Given the description of an element on the screen output the (x, y) to click on. 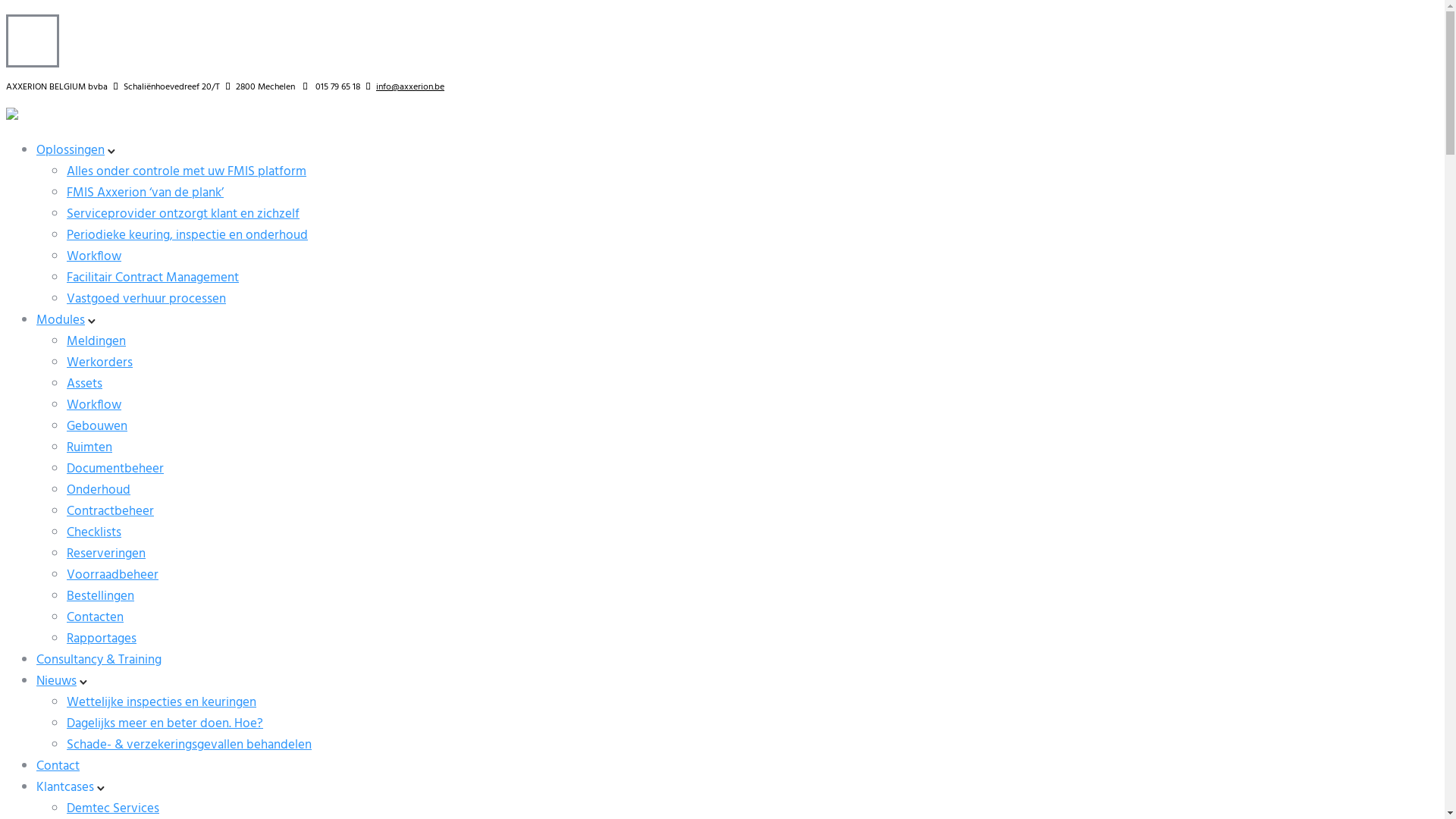
Oplossingen Element type: text (70, 150)
Nieuws Element type: text (56, 681)
Vastgoed verhuur processen Element type: text (145, 298)
Consultancy & Training Element type: text (98, 659)
Onderhoud Element type: text (98, 490)
Periodieke keuring, inspectie en onderhoud Element type: text (186, 235)
Dagelijks meer en beter doen. Hoe? Element type: text (164, 723)
Modules Element type: text (60, 320)
Contacten Element type: text (94, 617)
Alles onder controle met uw FMIS platform Element type: text (186, 171)
info@axxerion.be Element type: text (410, 86)
Contact Element type: text (57, 766)
Wettelijke inspecties en keuringen Element type: text (161, 702)
Contractbeheer Element type: text (109, 511)
Workflow Element type: text (93, 405)
Bestellingen Element type: text (100, 596)
Rapportages Element type: text (101, 638)
Schade- & verzekeringsgevallen behandelen Element type: text (188, 744)
Facilitair Contract Management Element type: text (152, 277)
Werkorders Element type: text (99, 362)
Voorraadbeheer Element type: text (112, 574)
Serviceprovider ontzorgt klant en zichzelf Element type: text (182, 213)
Ruimten Element type: text (89, 447)
Documentbeheer Element type: text (114, 468)
Assets Element type: text (84, 383)
Meldingen Element type: text (95, 341)
Checklists Element type: text (93, 532)
Workflow Element type: text (93, 256)
Gebouwen Element type: text (96, 426)
Reserveringen Element type: text (105, 553)
Klantcases Element type: text (65, 787)
